Given the description of an element on the screen output the (x, y) to click on. 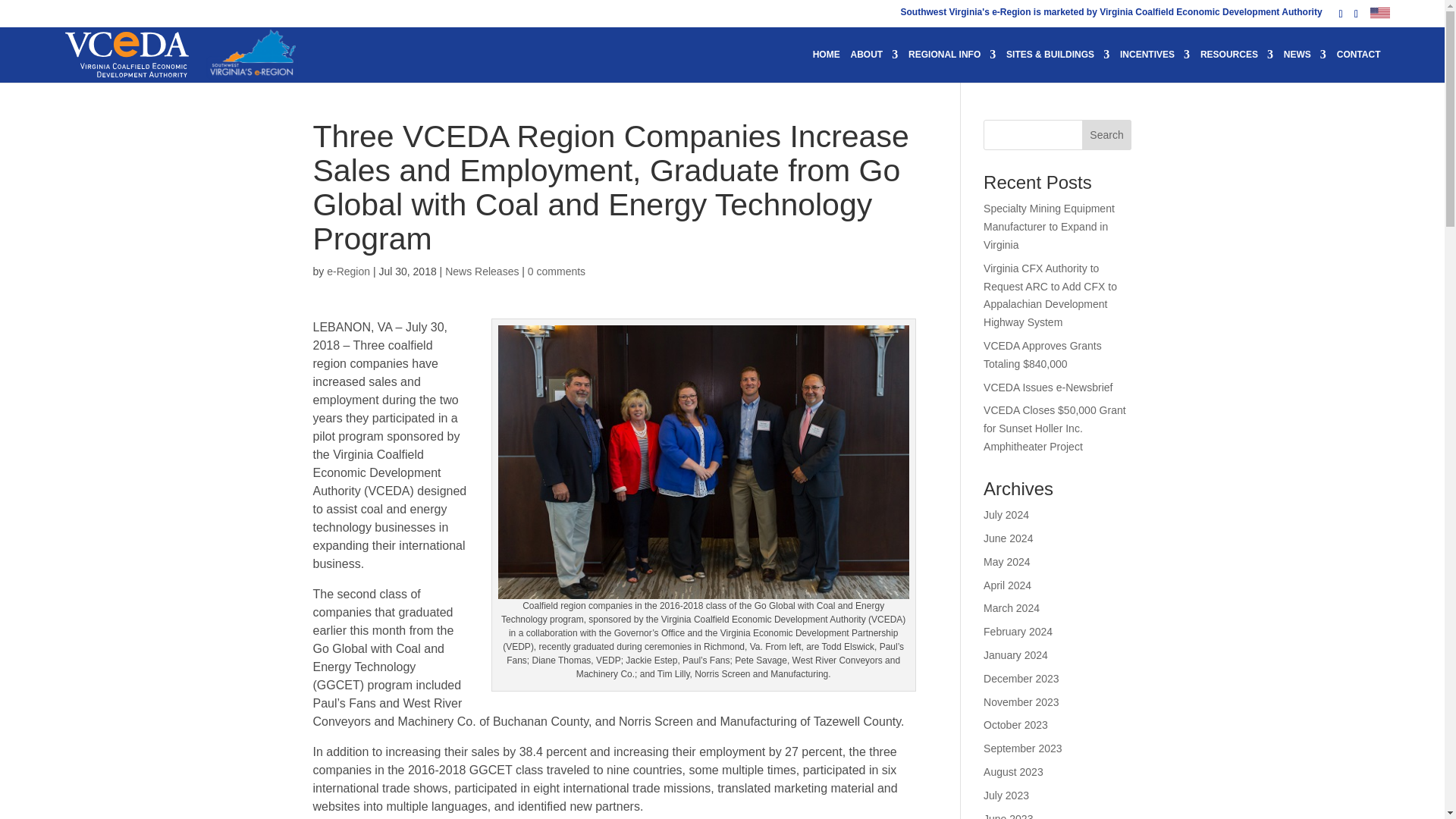
Posts by e-Region (347, 271)
NEWS (1305, 63)
RESOURCES (1235, 63)
INCENTIVES (1154, 63)
REGIONAL INFO (951, 63)
ABOUT (874, 63)
CONTACT (1358, 63)
HOME (826, 63)
Search (1106, 134)
